Given the description of an element on the screen output the (x, y) to click on. 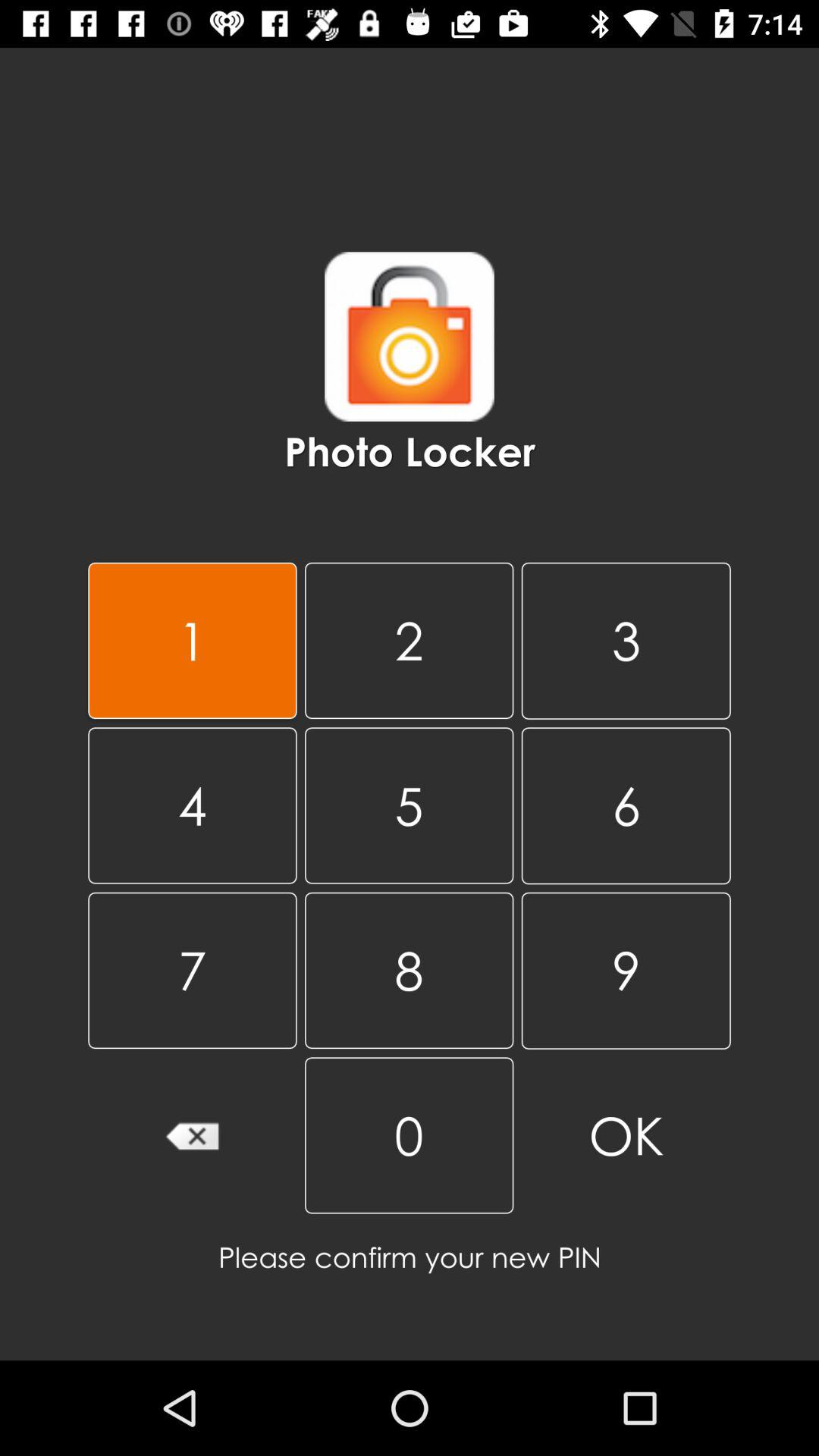
flip to the 1 item (192, 640)
